Given the description of an element on the screen output the (x, y) to click on. 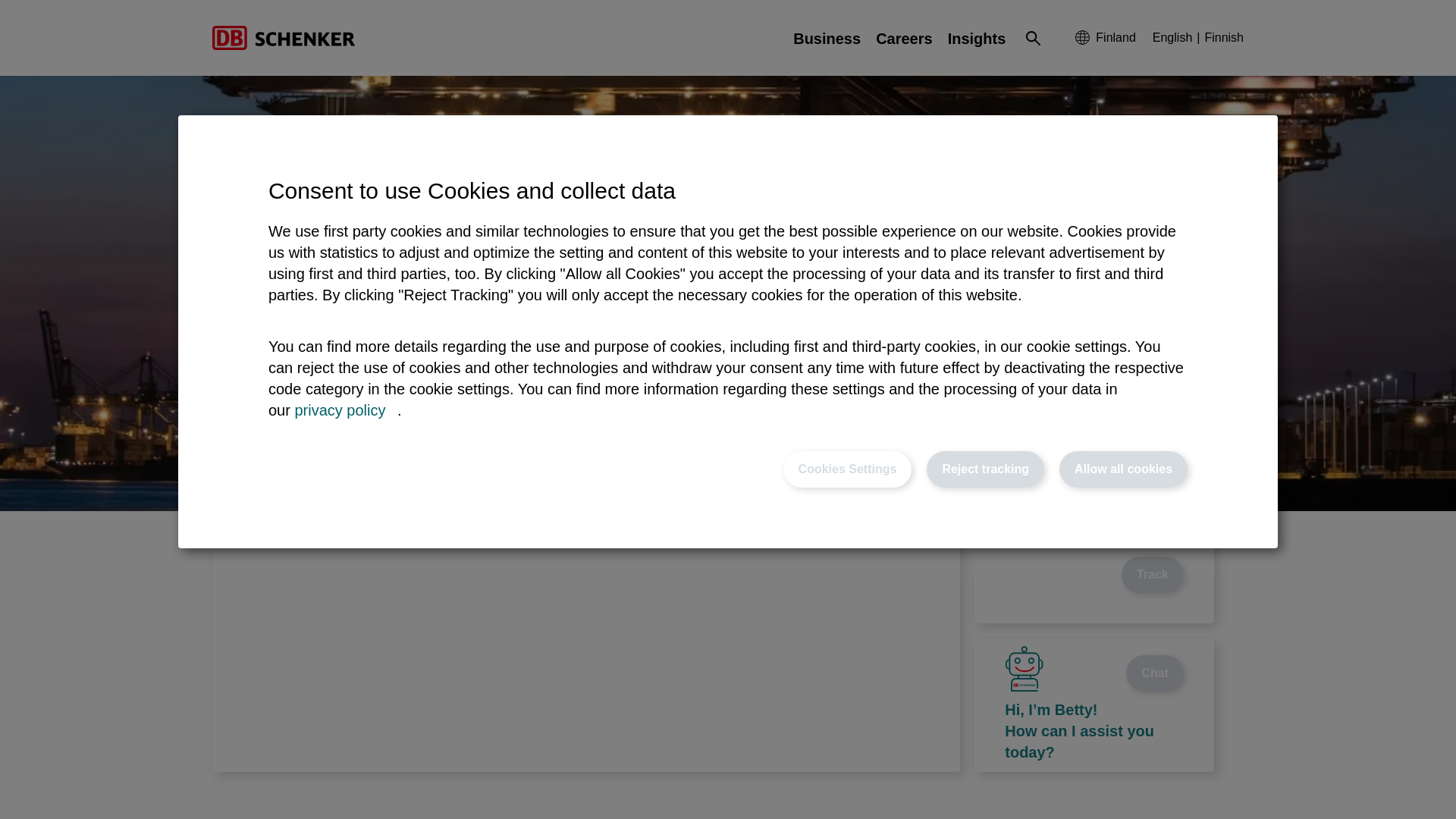
Finnish (1223, 37)
Insights (976, 38)
Back to Homepage (283, 37)
Finland (1105, 37)
Open Search (1032, 37)
Business (826, 38)
Careers (904, 38)
